Given the description of an element on the screen output the (x, y) to click on. 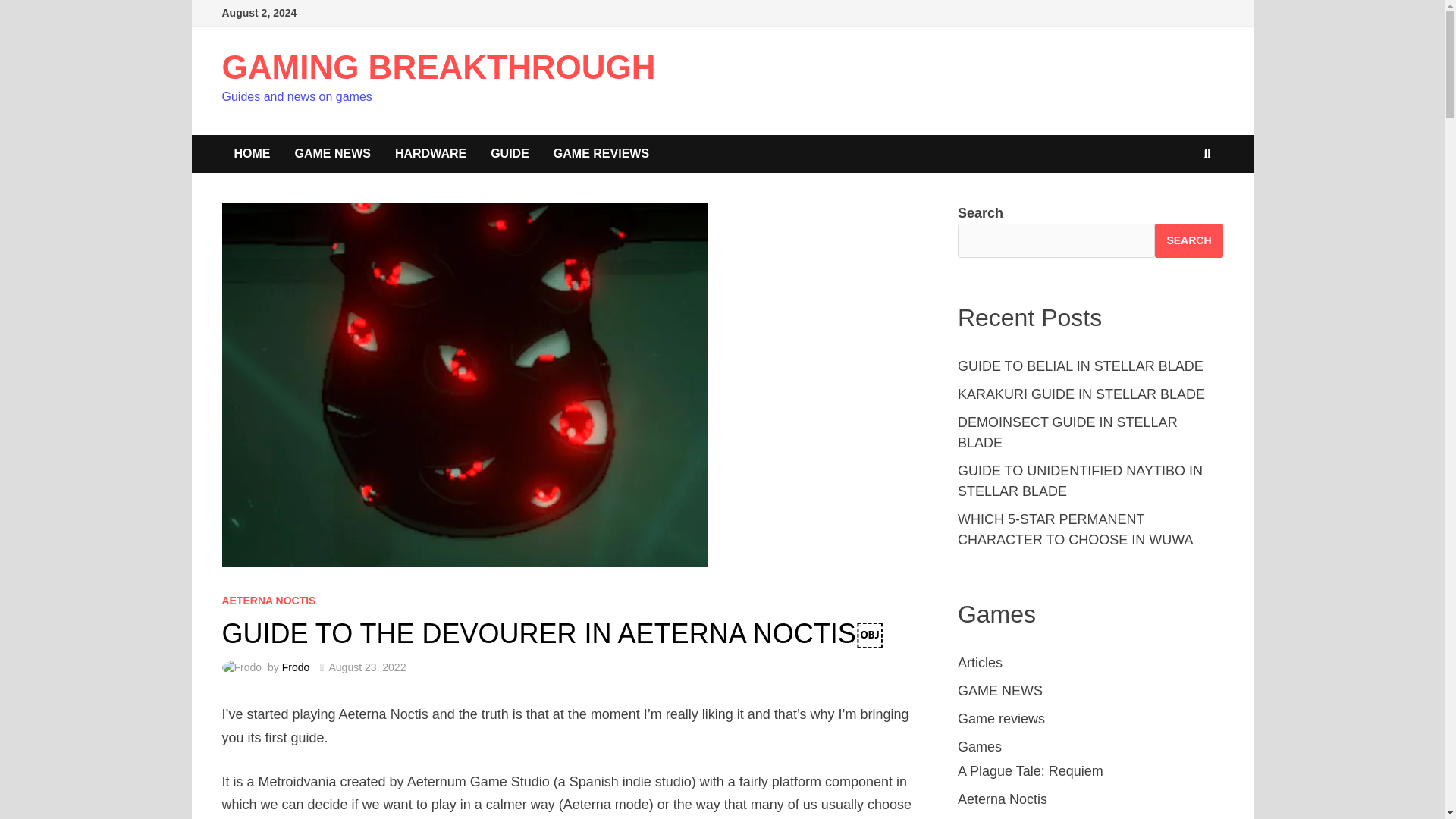
Game reviews (1001, 718)
GAME NEWS (1000, 690)
GUIDE TO UNIDENTIFIED NAYTIBO IN STELLAR BLADE (1080, 480)
GUIDE (510, 153)
WHICH 5-STAR PERMANENT CHARACTER TO CHOOSE IN WUWA (1075, 529)
AETERNA NOCTIS (268, 600)
August 23, 2022 (367, 666)
Frodo (296, 666)
HOME (251, 153)
SEARCH (1188, 240)
GAMING BREAKTHROUGH (438, 66)
Articles (980, 662)
HARDWARE (430, 153)
GUIDE TO BELIAL IN STELLAR BLADE (1081, 365)
KARAKURI GUIDE IN STELLAR BLADE (1081, 394)
